Given the description of an element on the screen output the (x, y) to click on. 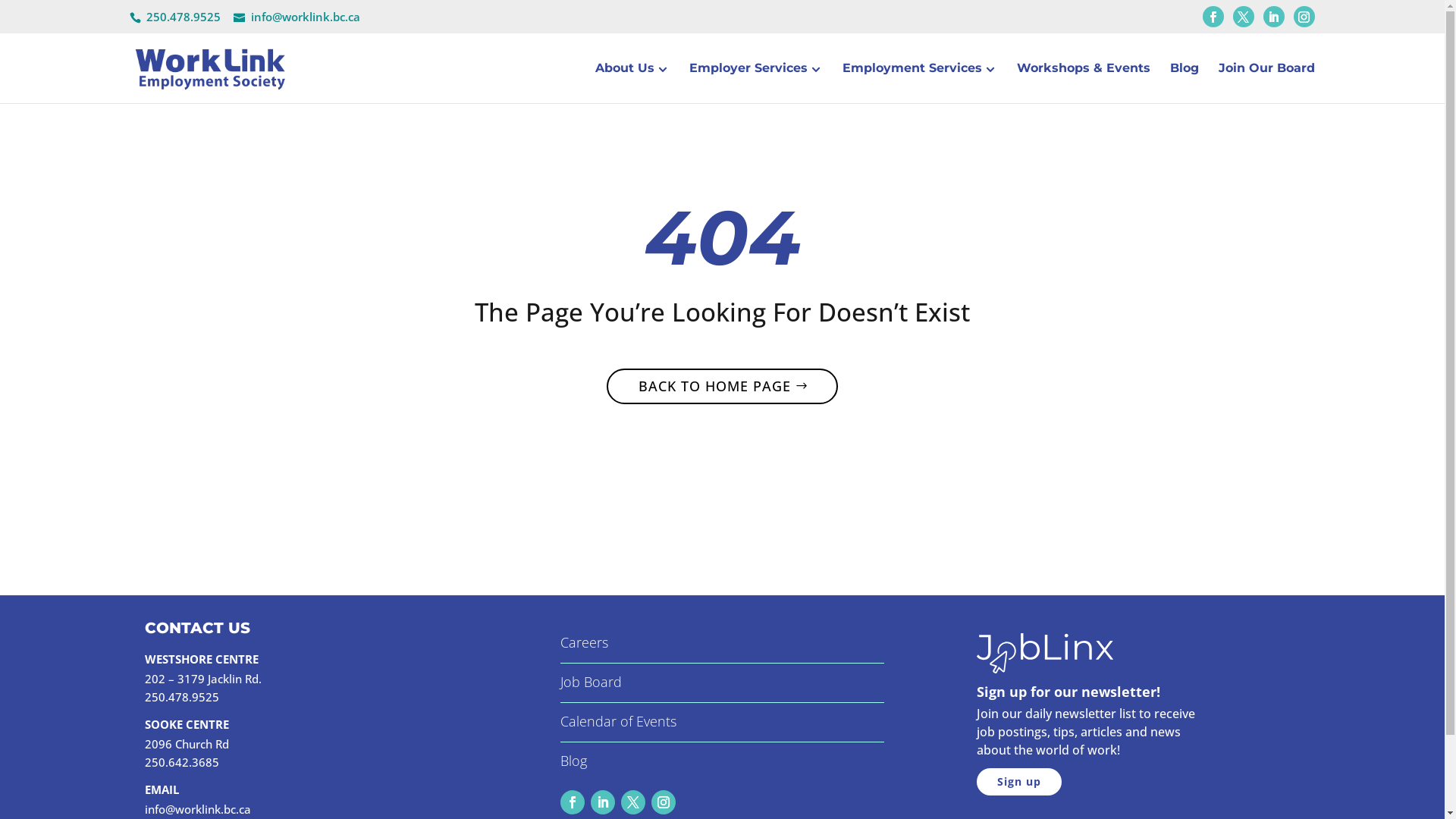
250.642.3685 Element type: text (181, 761)
Sign up Element type: text (1018, 781)
Joblinx-logo Element type: hover (1044, 653)
info@worklink.bc.ca Element type: text (296, 16)
Blog Element type: text (573, 760)
About Us Element type: text (632, 82)
Careers Element type: text (584, 642)
250.478.9525 Element type: text (183, 16)
Employment Services Element type: text (919, 82)
250.478.9525 Element type: text (181, 696)
Employer Services Element type: text (755, 82)
Follow on Instagram Element type: hover (663, 802)
Follow on LinkedIn Element type: hover (602, 802)
Workshops & Events Element type: text (1083, 82)
Job Board Element type: text (590, 681)
Calendar of Events Element type: text (618, 721)
Blog Element type: text (1184, 82)
Follow on X Element type: hover (633, 802)
Join Our Board Element type: text (1266, 82)
BACK TO HOME PAGE Element type: text (721, 386)
Follow on Facebook Element type: hover (572, 802)
info@worklink.bc.ca Element type: text (197, 808)
